Given the description of an element on the screen output the (x, y) to click on. 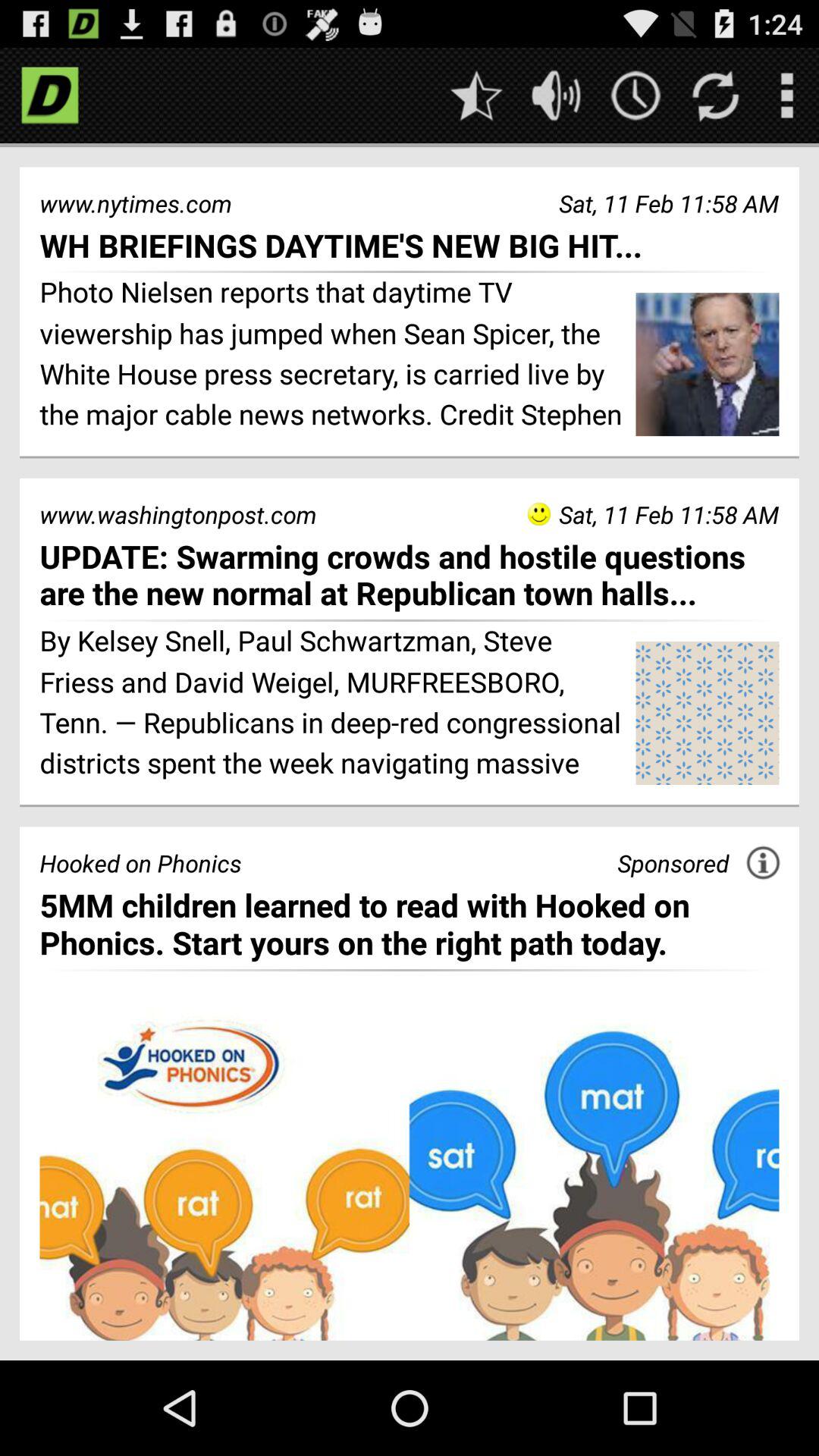
refresh option (715, 95)
